Given the description of an element on the screen output the (x, y) to click on. 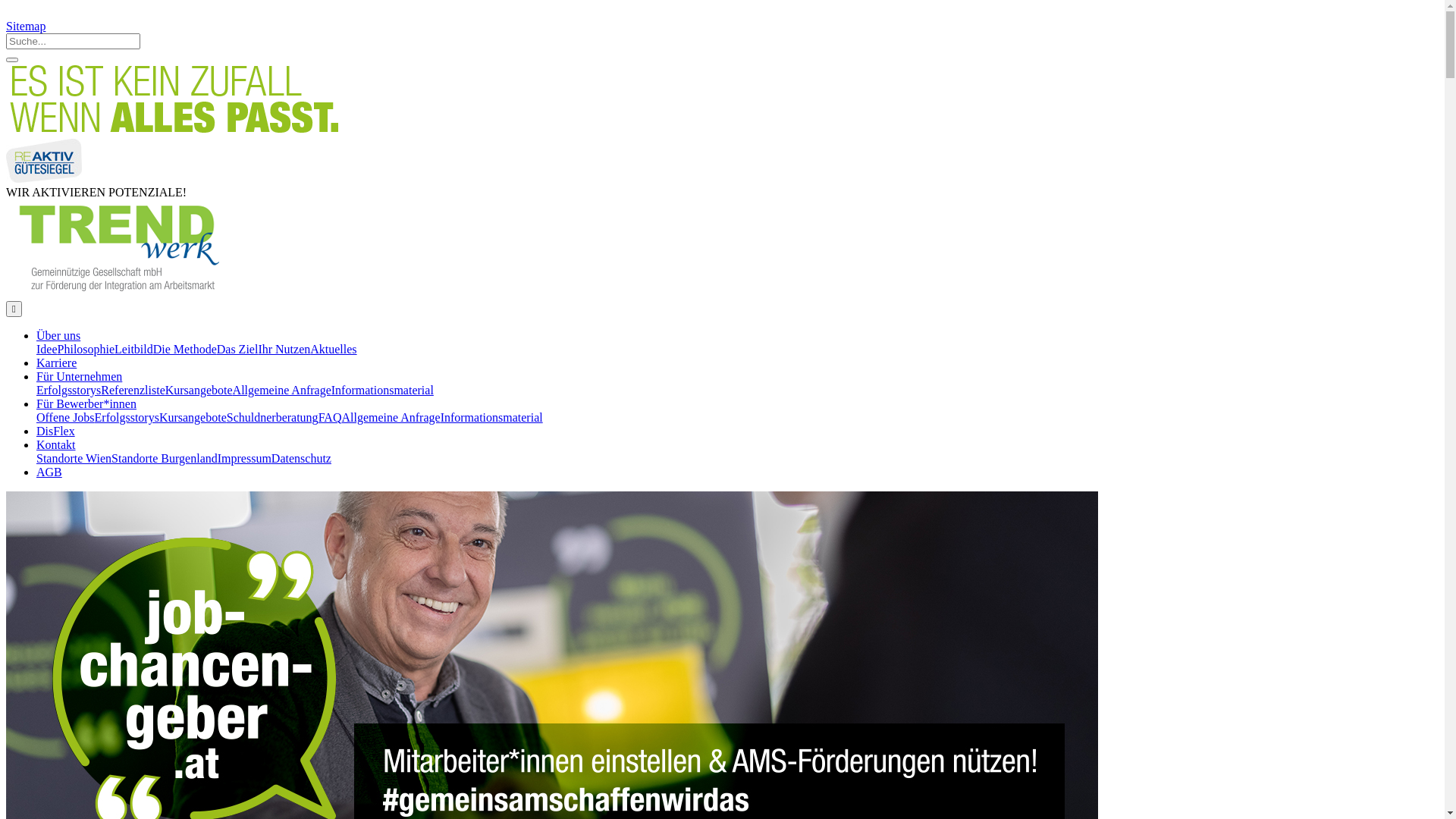
Allgemeine Anfrage Element type: text (281, 389)
DisFlex Element type: text (55, 430)
Allgemeine Anfrage Element type: text (390, 417)
Erfolgsstorys Element type: text (126, 417)
Erfolgsstorys Element type: text (68, 389)
Philosophie Element type: text (86, 348)
Offene Jobs Element type: text (65, 417)
Aktuelles Element type: text (333, 348)
Das Ziel Element type: text (237, 348)
Referenzliste Element type: text (132, 389)
Idee Element type: text (46, 348)
Schuldnerberatung Element type: text (272, 417)
Standorte Wien Element type: text (73, 457)
Karriere Element type: text (56, 362)
Standorte Burgenland Element type: text (164, 457)
Kursangebote Element type: text (198, 389)
Leitbild Element type: text (133, 348)
Kontakt Element type: text (55, 444)
Sitemap Element type: text (25, 25)
Die Methode Element type: text (184, 348)
Datenschutz Element type: text (301, 457)
Impressum Element type: text (244, 457)
Informationsmaterial Element type: text (382, 389)
FAQ Element type: text (330, 417)
Ihr Nutzen Element type: text (283, 348)
Informationsmaterial Element type: text (491, 417)
AGB Element type: text (49, 471)
Kursangebote Element type: text (192, 417)
